Given the description of an element on the screen output the (x, y) to click on. 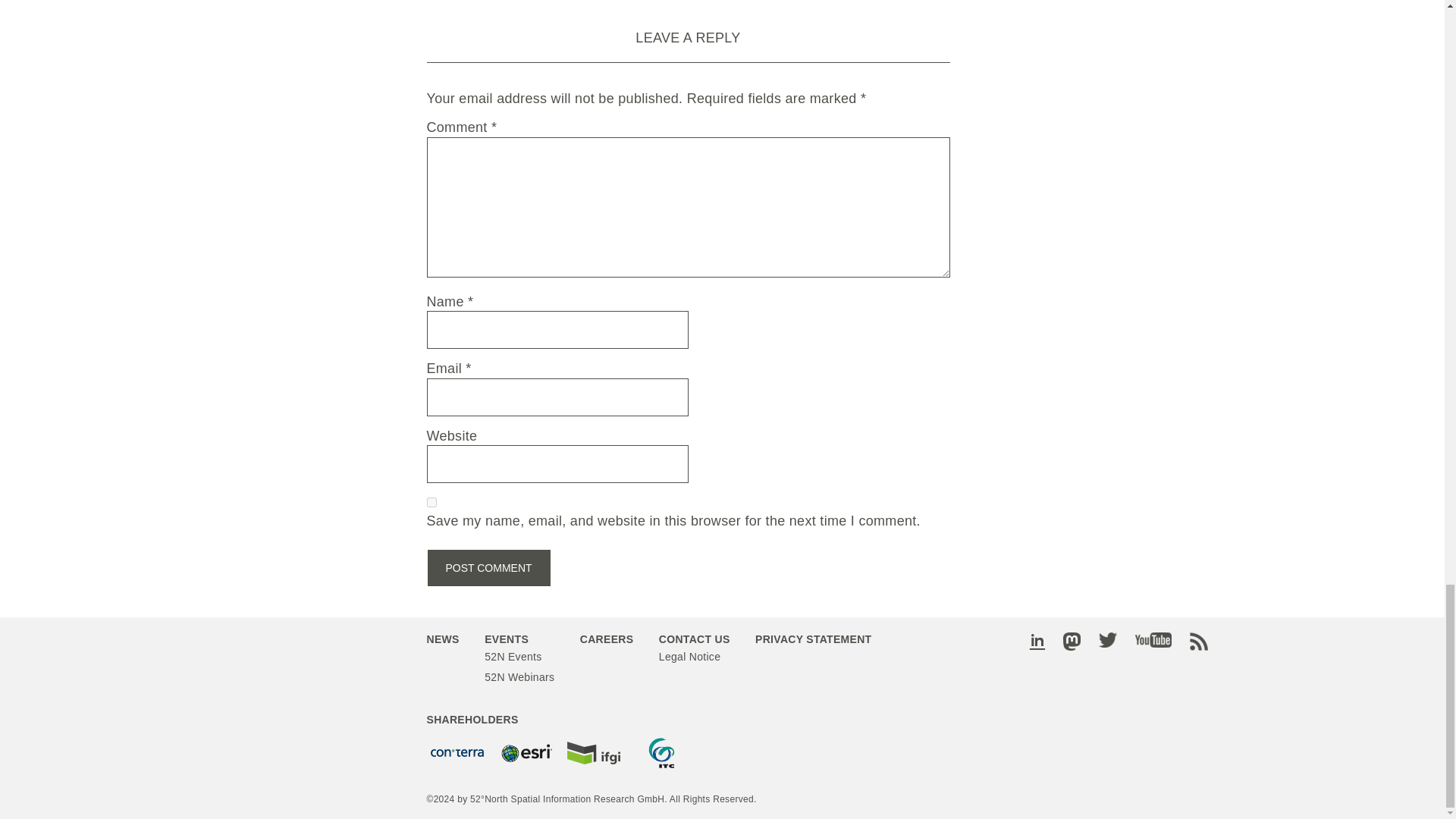
yes (430, 501)
Post Comment (488, 567)
Post Comment (488, 567)
